Given the description of an element on the screen output the (x, y) to click on. 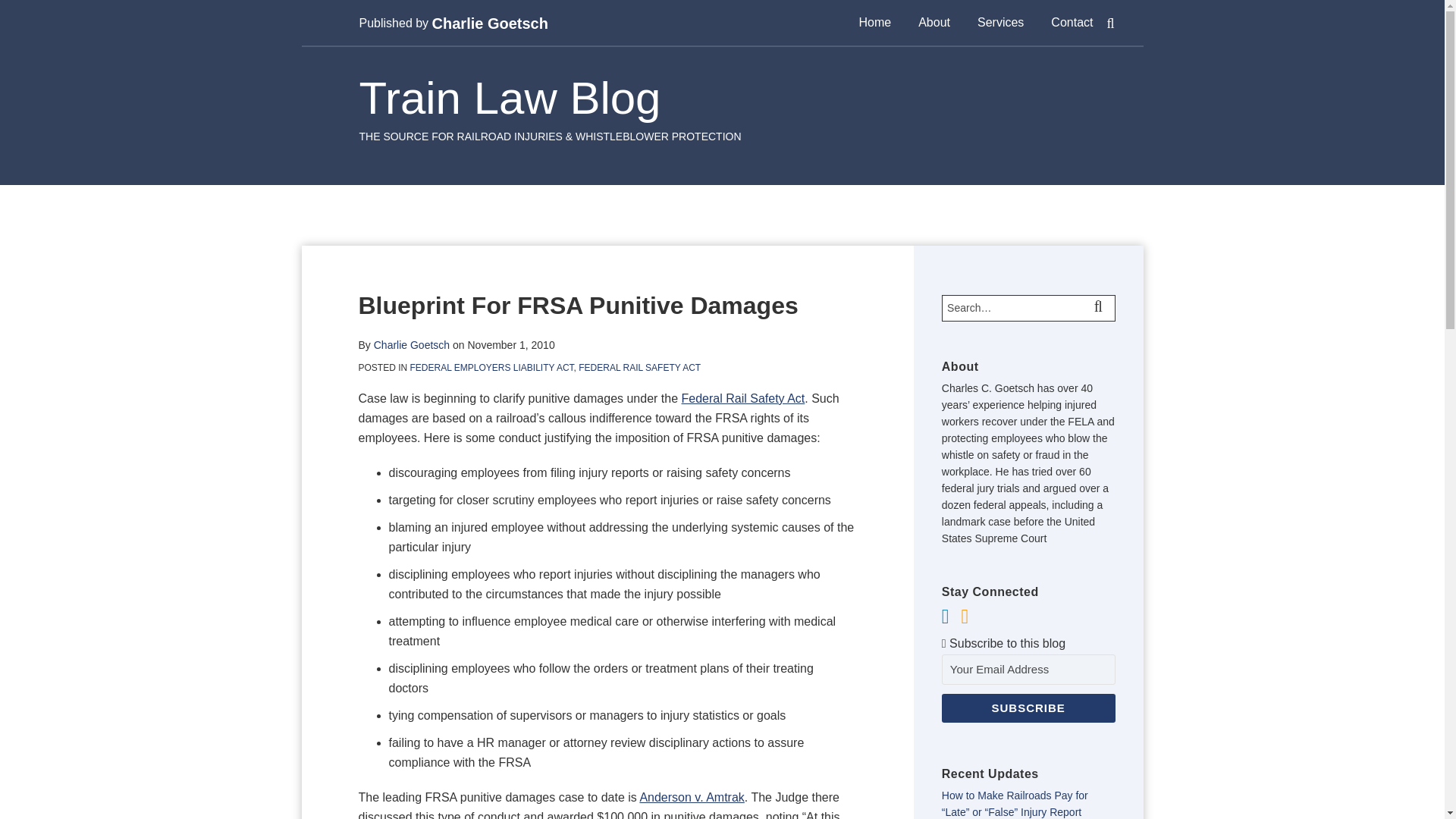
FEDERAL EMPLOYERS LIABILITY ACT (491, 367)
Subscribe (1028, 707)
Charlie Goetsch (411, 345)
About (934, 22)
Services (999, 22)
Charlie Goetsch (490, 23)
Federal Rail Safety Act (743, 398)
Home (875, 22)
Subscribe (1028, 707)
Subscribe to this blog via RSS (964, 616)
Contact (1072, 22)
FEDERAL RAIL SAFETY ACT (639, 367)
Connect on LinkedIn (945, 616)
Train Law Blog (510, 97)
Anderson v. Amtrak (691, 797)
